Given the description of an element on the screen output the (x, y) to click on. 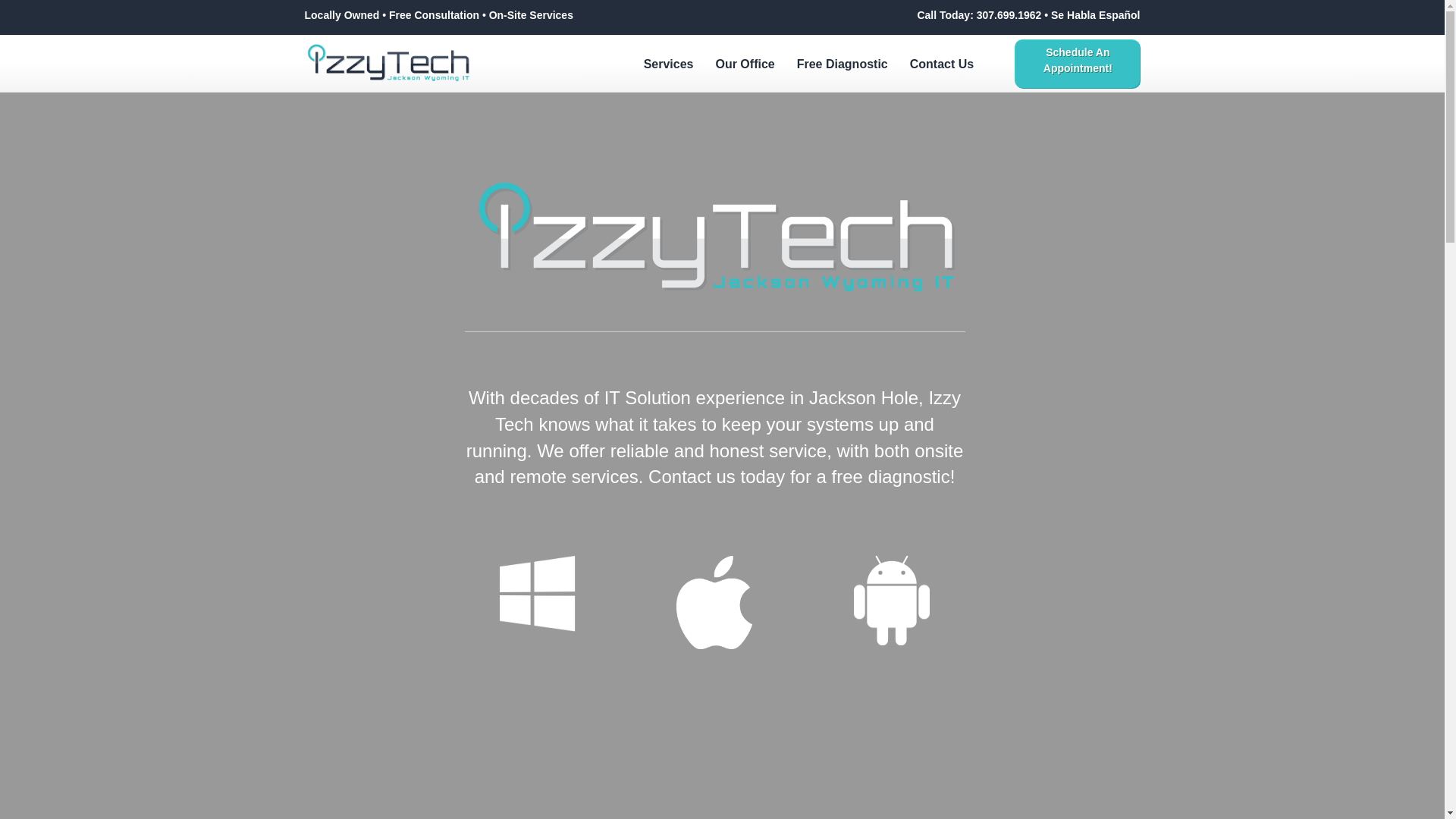
izzy tech logo dark 1 (713, 240)
Free Diagnostic (842, 63)
Services (668, 63)
jackson hole it services (387, 64)
windows white (537, 593)
Our Office (744, 63)
Contact Us (941, 63)
